Given the description of an element on the screen output the (x, y) to click on. 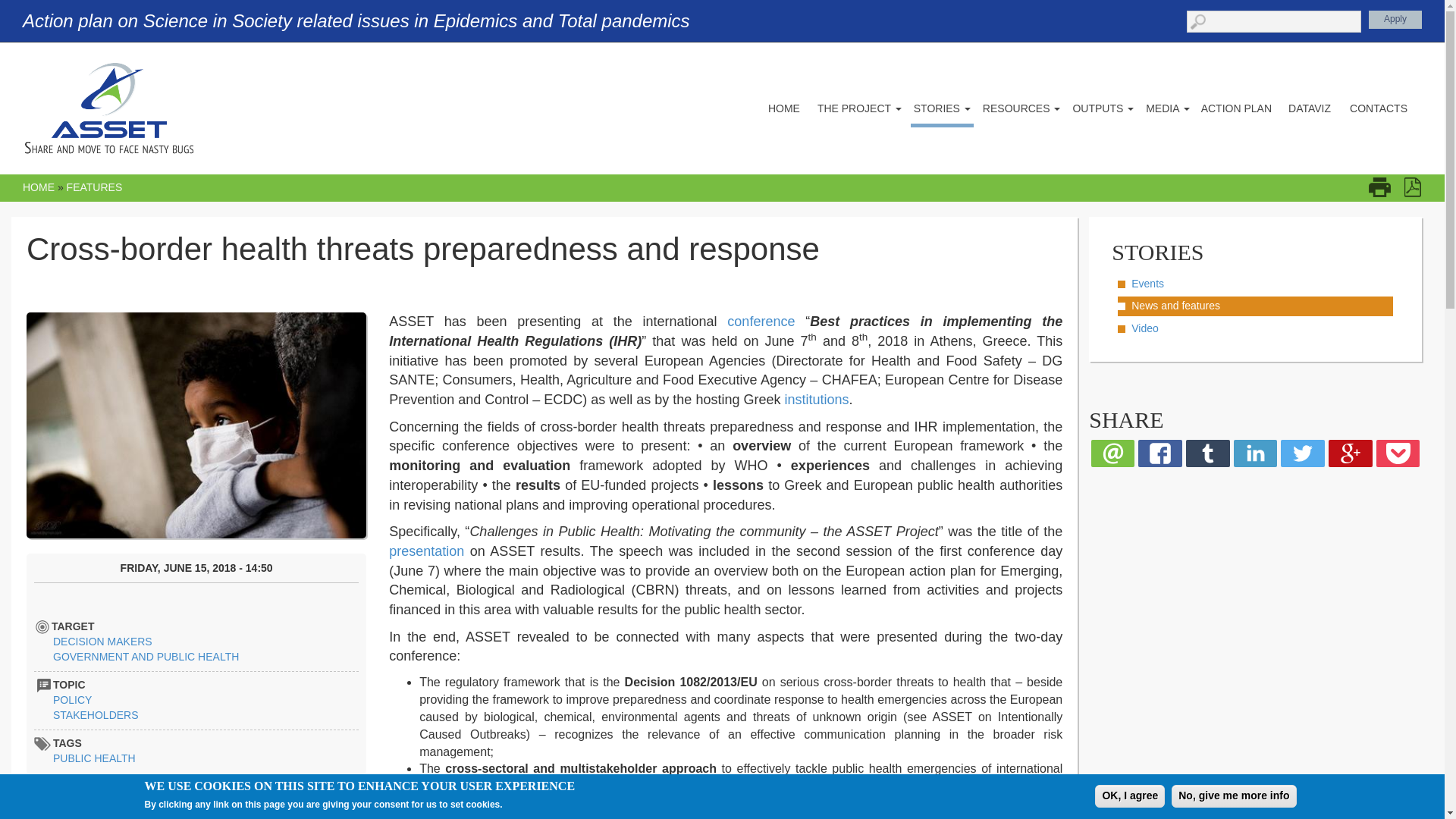
OUTPUTS (1102, 111)
Apply (1395, 19)
RESOURCES (1021, 111)
MEDIA (1167, 111)
Display a printer-friendly version of this page. (1385, 187)
Apply (1395, 19)
STORIES (942, 113)
HOME (784, 111)
THE PROJECT (858, 111)
DATAVIZ (1309, 111)
Home (109, 107)
ACTION PLAN (1236, 111)
